Given the description of an element on the screen output the (x, y) to click on. 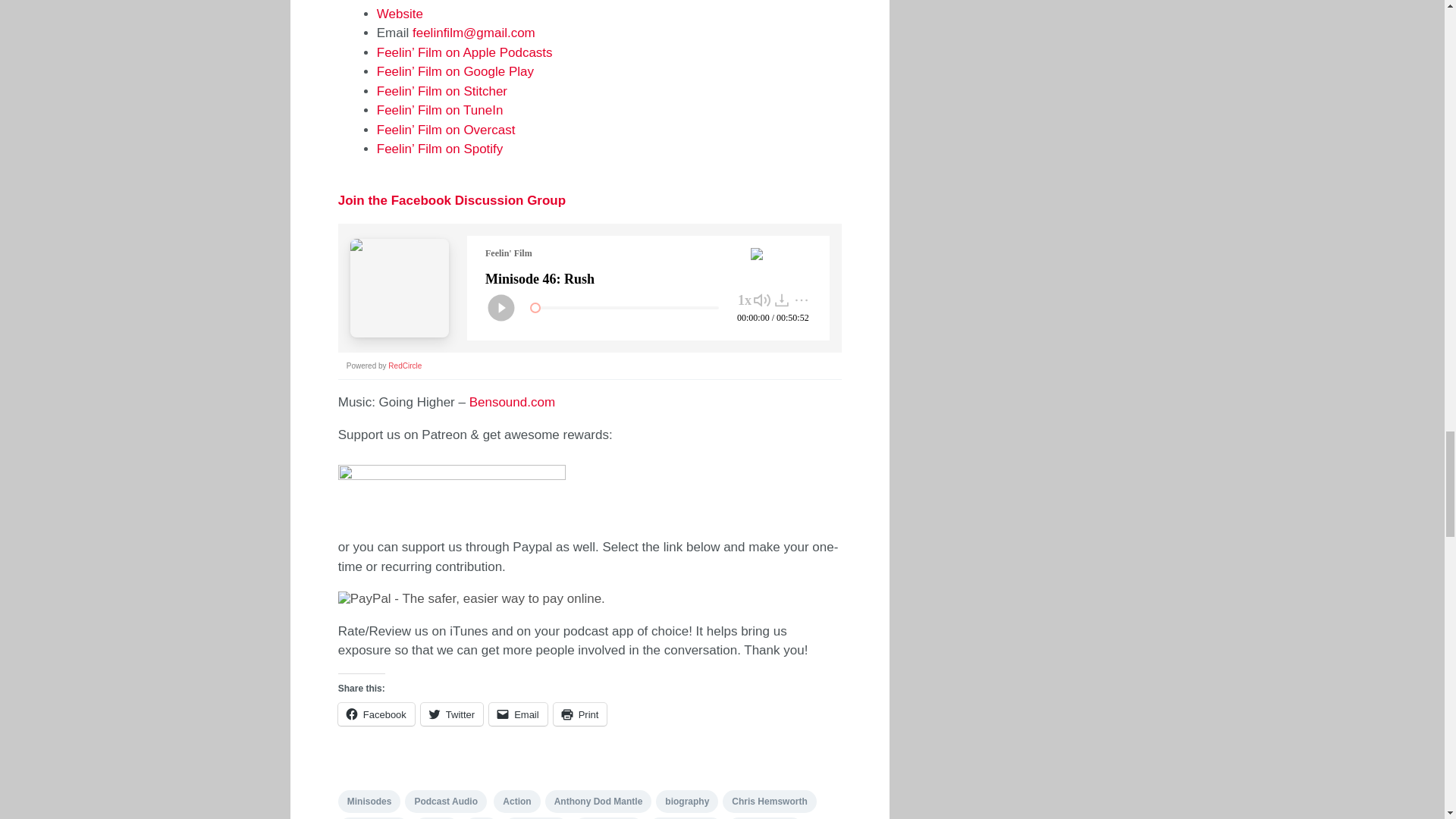
Click to email a link to a friend (518, 713)
Click to share on Facebook (375, 713)
Click to share on Twitter (451, 713)
Click to print (580, 713)
